Given the description of an element on the screen output the (x, y) to click on. 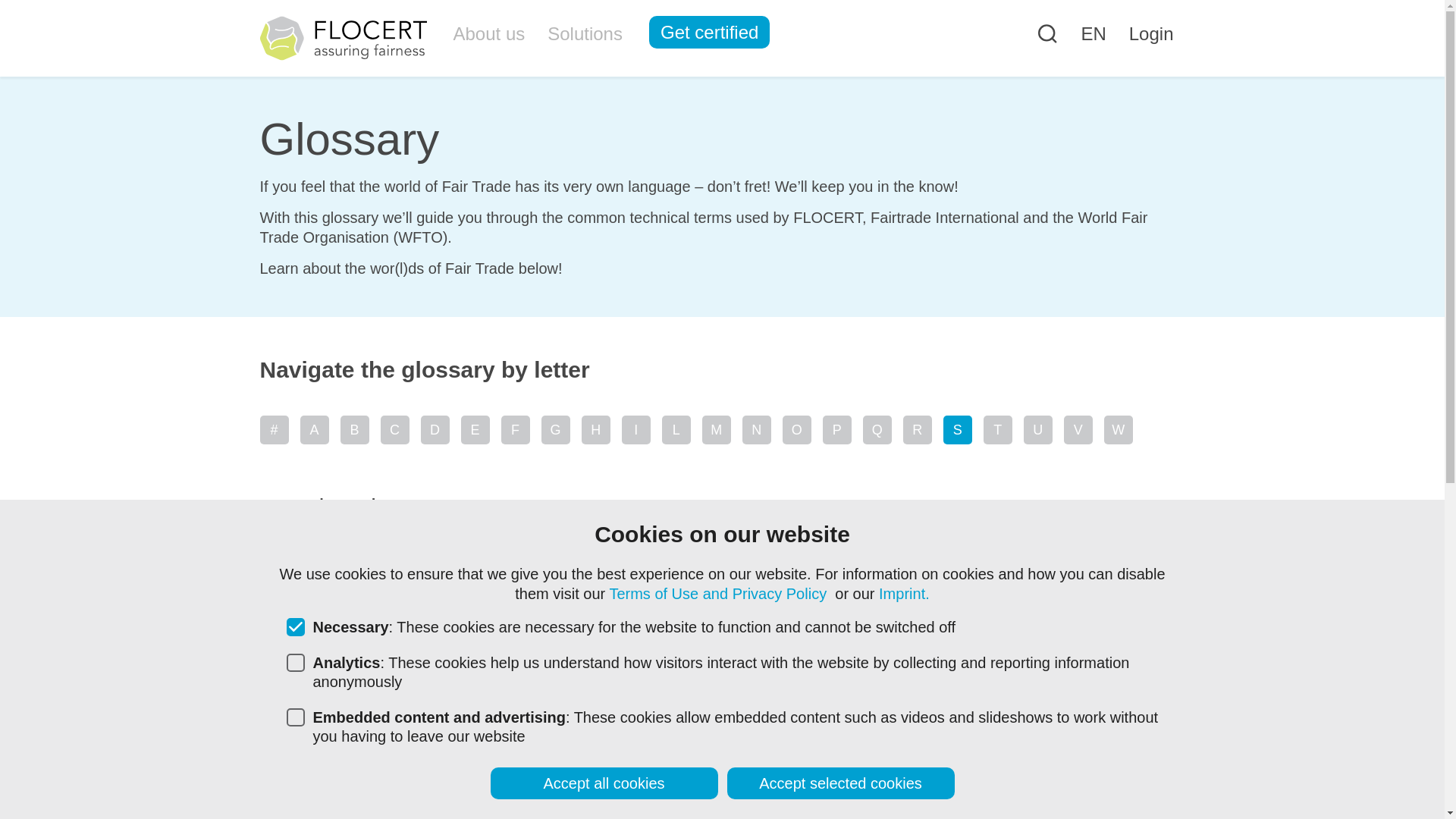
Solutions (584, 33)
About us (488, 33)
Search Icon (1047, 37)
Search Icon (1046, 32)
LinkedIn Icon (1029, 763)
YouTube Icon (1077, 763)
Get certified (709, 31)
